Given the description of an element on the screen output the (x, y) to click on. 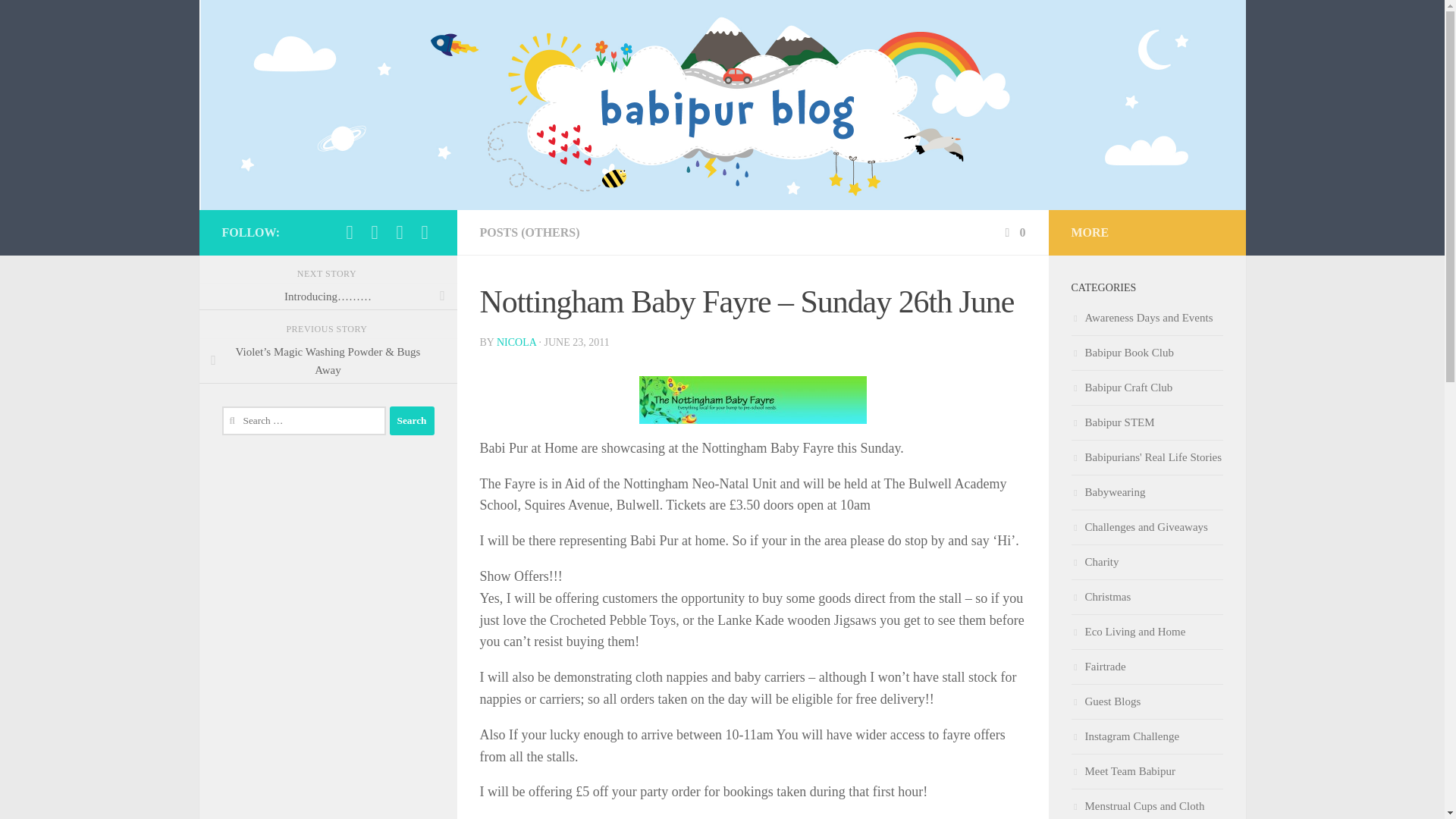
Follow us on Twitter-square (374, 231)
Posts by Nicola (515, 342)
Follow us on Instagram (399, 231)
Follow us on Facebook-square (348, 231)
View our videos on YouTube (423, 231)
Skip to content (59, 20)
Search (411, 420)
Search (411, 420)
0 (1013, 232)
NICOLA (515, 342)
